Given the description of an element on the screen output the (x, y) to click on. 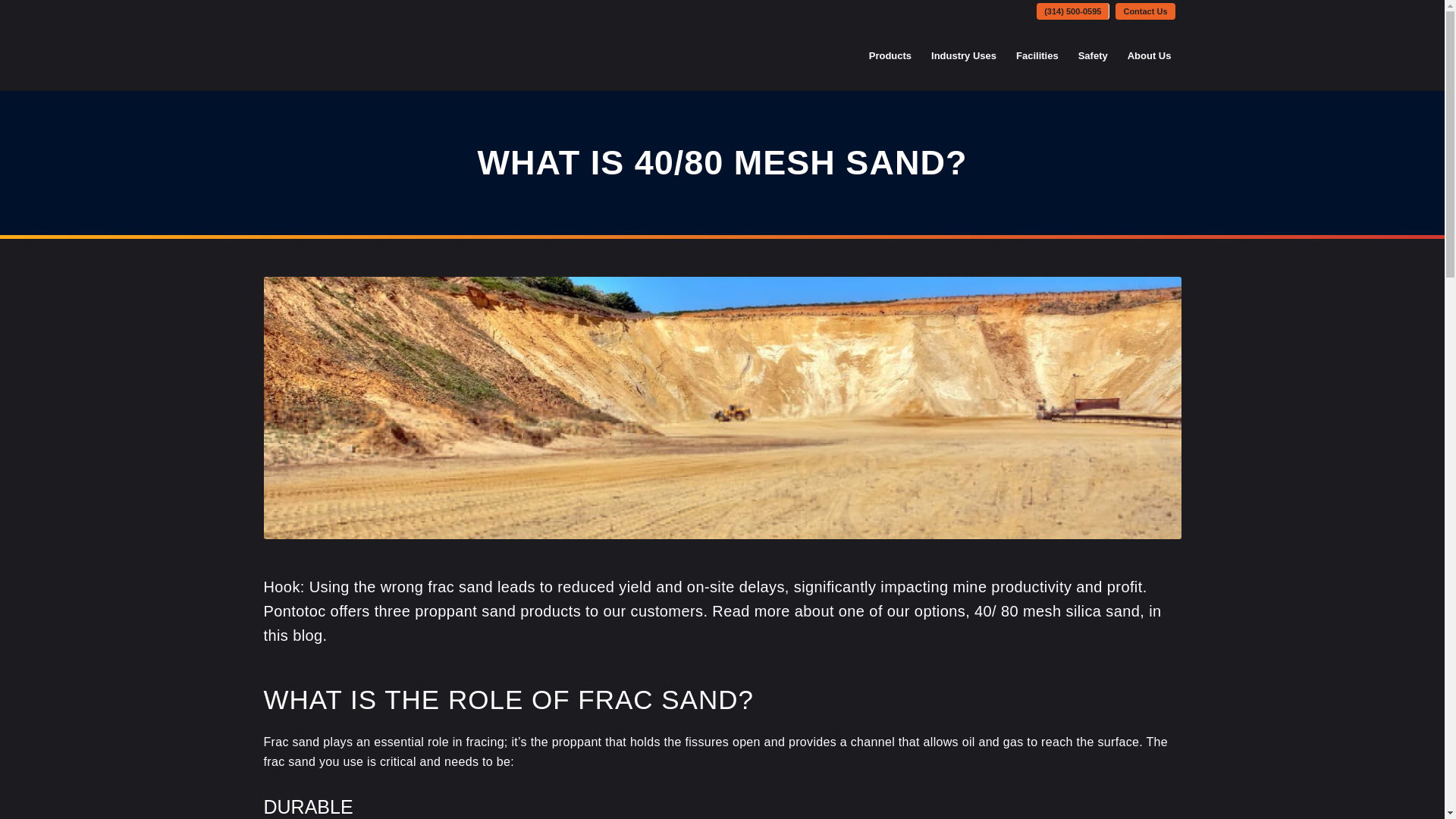
About Us (1149, 56)
Facilities (1037, 56)
three proppant sand (445, 610)
Contact Us (1144, 10)
Industry Uses (963, 56)
Products (890, 56)
